Given the description of an element on the screen output the (x, y) to click on. 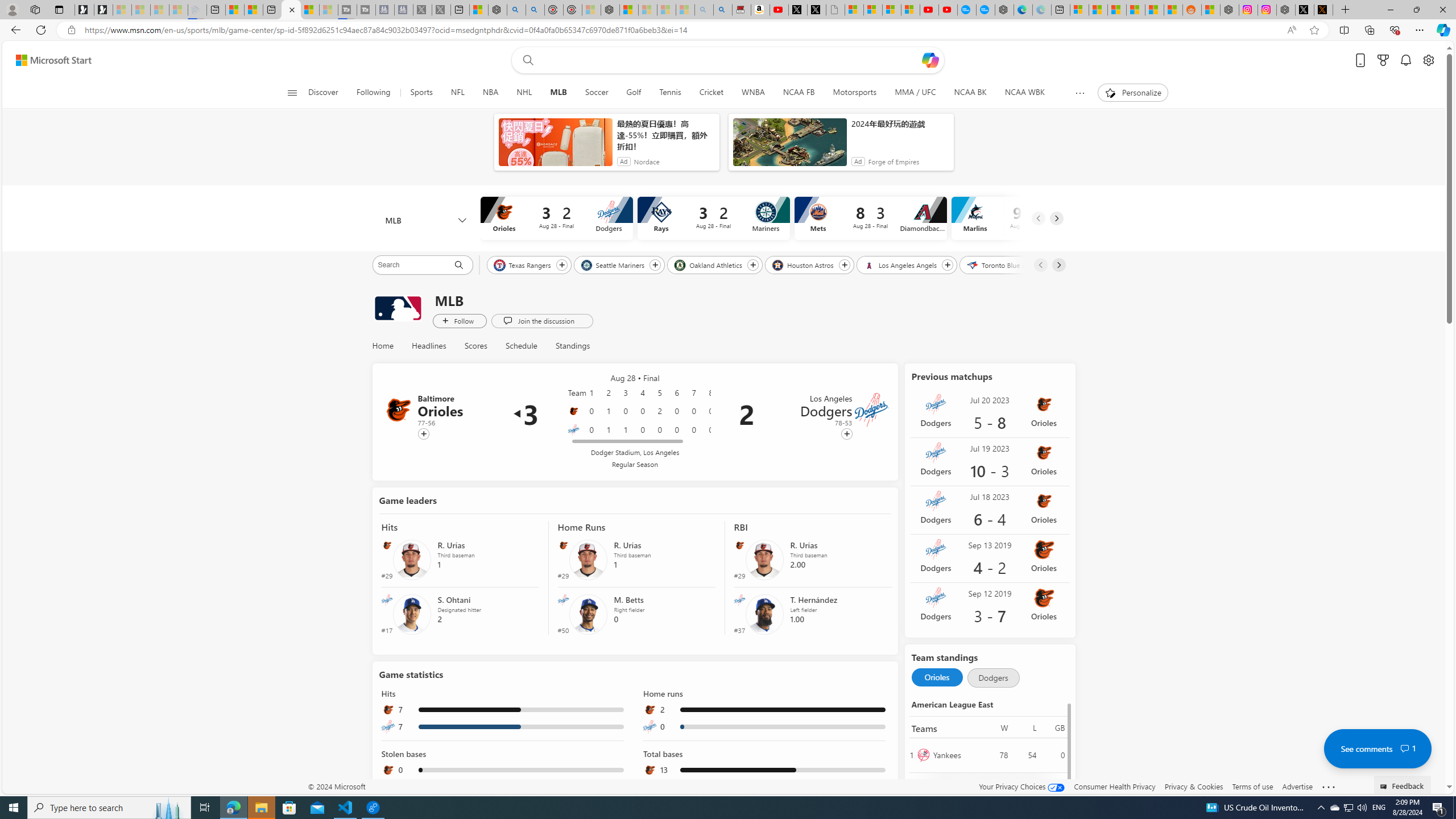
Open Copilot (930, 59)
Follow Baltimore Orioles (423, 433)
Soccer (596, 92)
Tennis (670, 92)
NCAA FB (799, 92)
Personalize (1132, 92)
Soccer (596, 92)
Headlines (429, 345)
NFL (457, 92)
Feedback (1402, 784)
Nordace (@NordaceOfficial) / X (1304, 9)
Texas Rangers (522, 264)
Baltimore Orioles (398, 410)
